Given the description of an element on the screen output the (x, y) to click on. 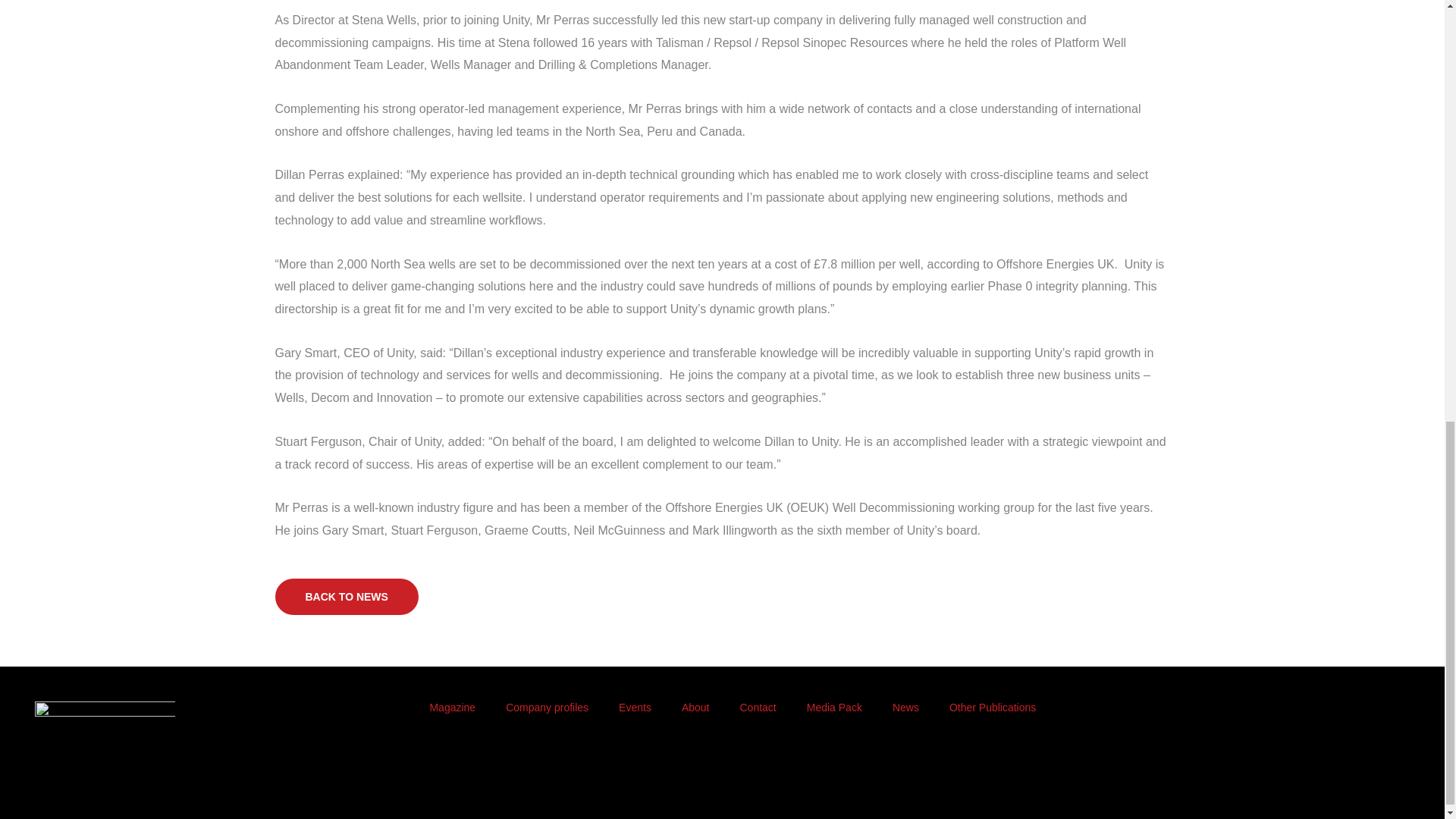
Media Pack (834, 707)
About (695, 707)
Other Publications (992, 707)
Magazine (451, 707)
News (905, 707)
BACK TO NEWS (346, 596)
Company profiles (547, 707)
Events (635, 707)
Contact (756, 707)
